Given the description of an element on the screen output the (x, y) to click on. 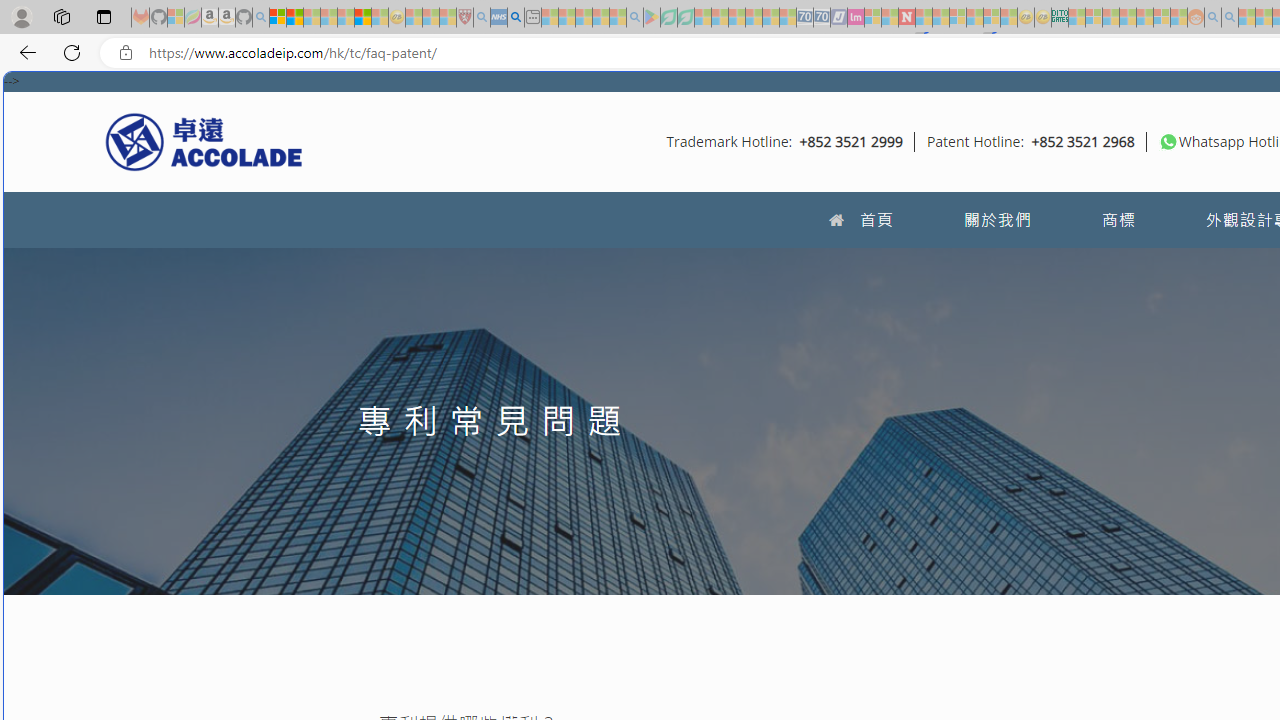
Accolade IP HK Logo (203, 141)
